Given the description of an element on the screen output the (x, y) to click on. 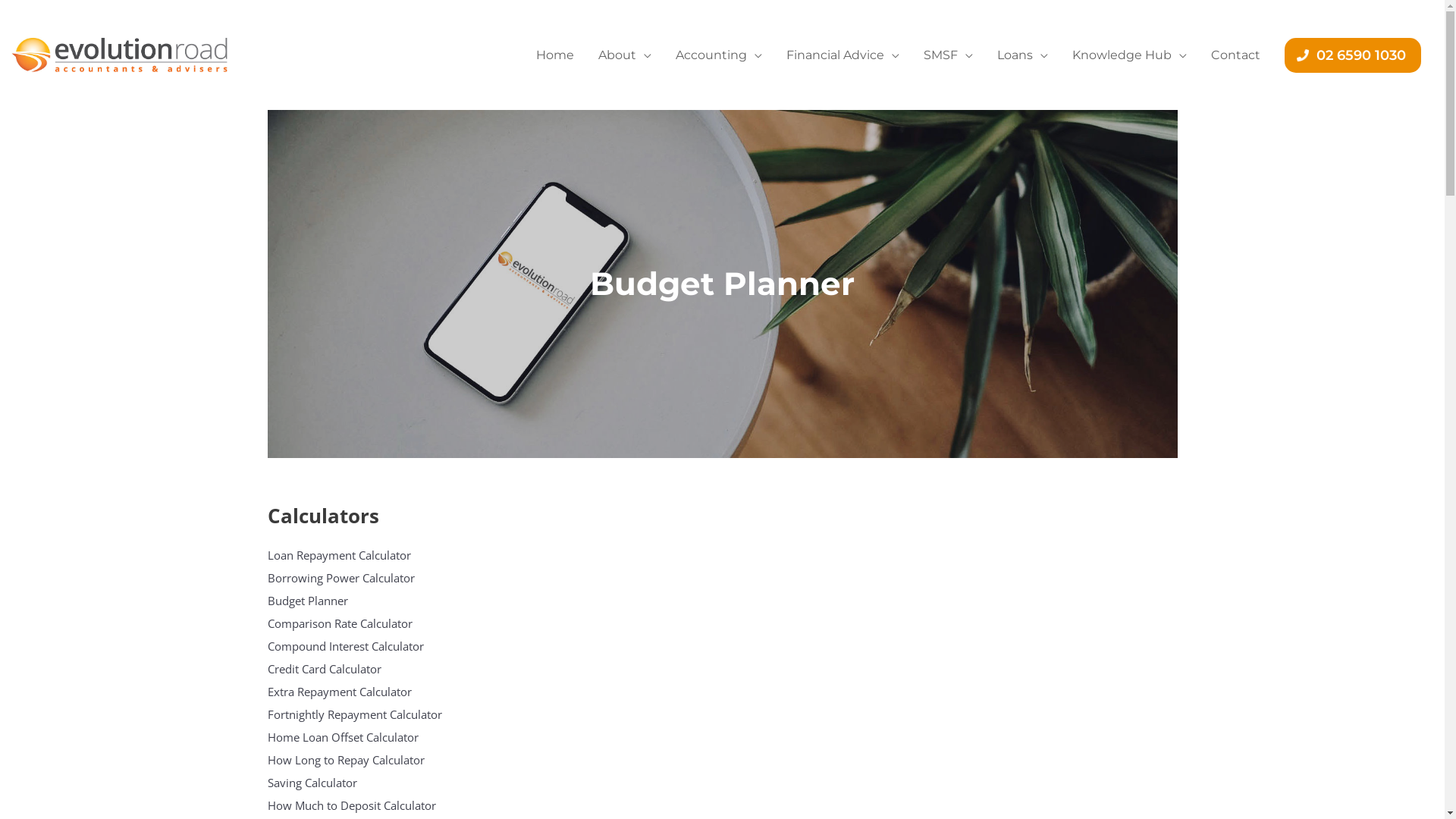
Borrowing Power Calculator Element type: text (387, 577)
How Long to Repay Calculator Element type: text (387, 759)
Comparison Rate Calculator Element type: text (387, 622)
About Element type: text (624, 55)
Home Element type: text (555, 55)
Contact Element type: text (1235, 55)
Credit Card Calculator Element type: text (387, 668)
Compound Interest Calculator Element type: text (387, 645)
Saving Calculator Element type: text (387, 782)
Budget Planner Element type: text (387, 600)
Home Loan Offset Calculator Element type: text (387, 736)
Extra Repayment Calculator Element type: text (387, 691)
Knowledge Hub Element type: text (1129, 55)
Loans Element type: text (1022, 55)
How Much to Deposit Calculator Element type: text (387, 804)
02 6590 1030 Element type: text (1352, 54)
Loan Repayment Calculator Element type: text (387, 554)
SMSF Element type: text (948, 55)
Financial Advice Element type: text (842, 55)
Fortnightly Repayment Calculator Element type: text (387, 713)
Accounting Element type: text (718, 55)
